Given the description of an element on the screen output the (x, y) to click on. 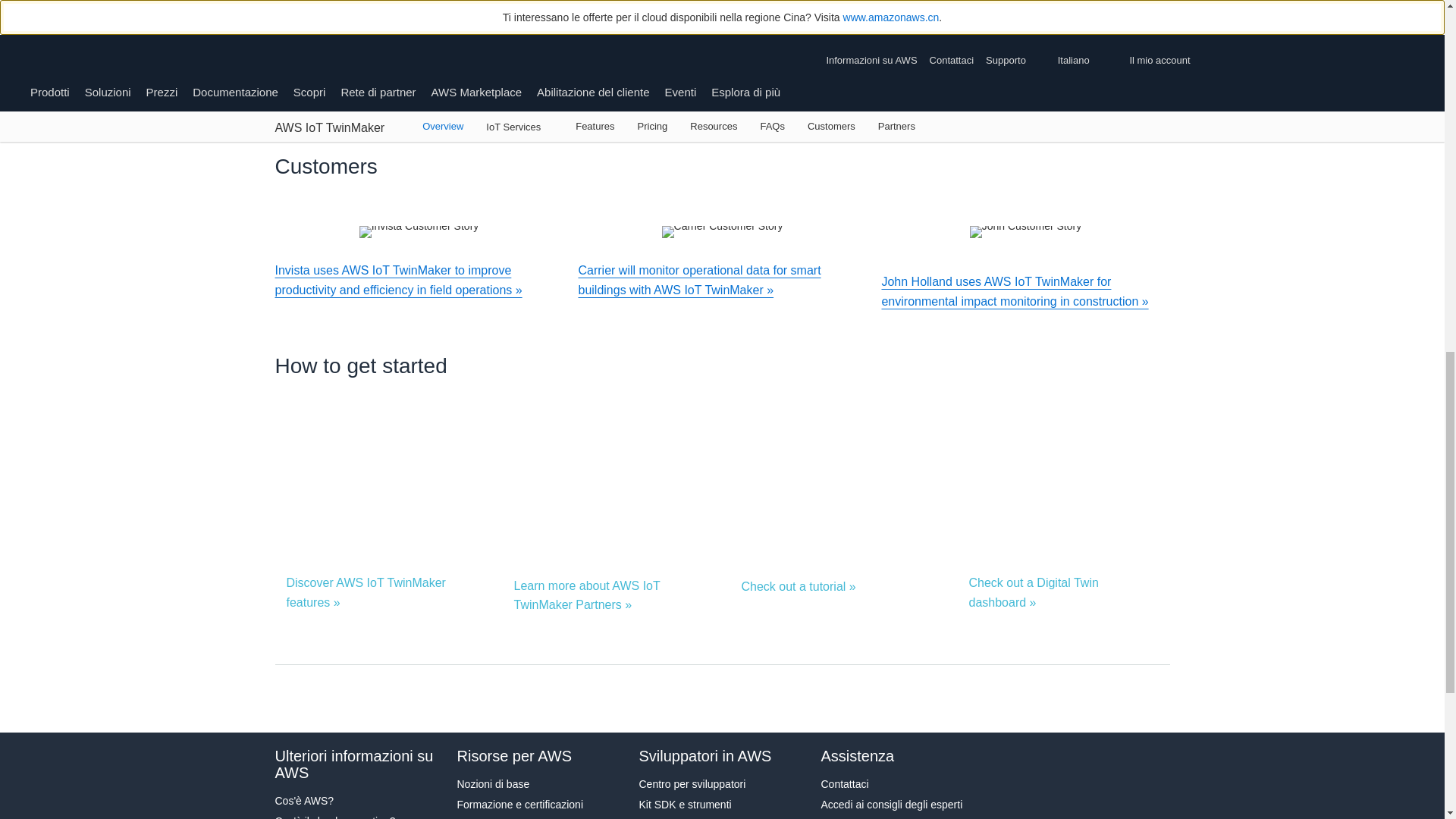
Carrier Customer Story (722, 232)
Invista Customer Story (419, 232)
John Customer Story (1025, 232)
